Given the description of an element on the screen output the (x, y) to click on. 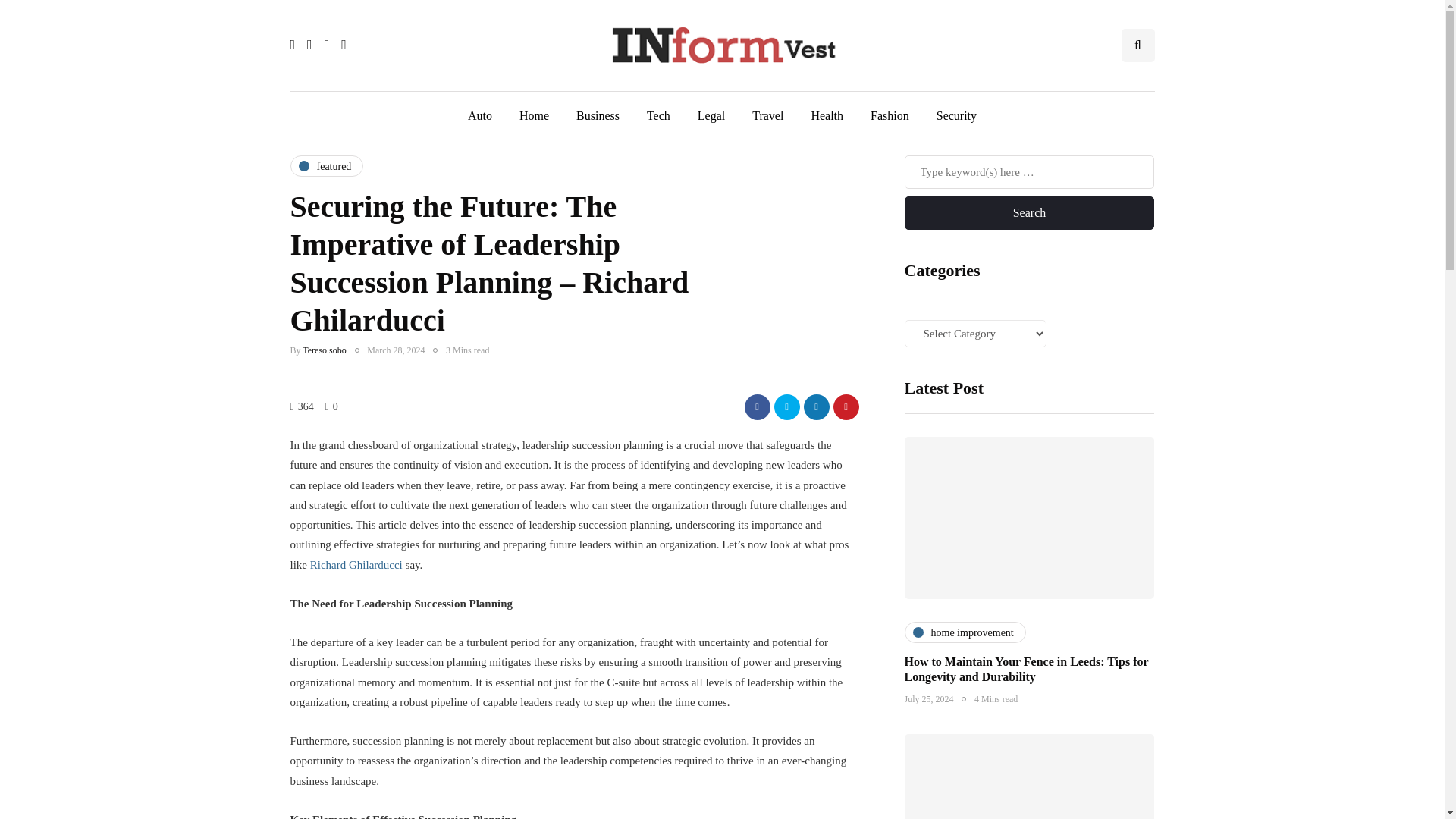
Tech (658, 115)
Travel (767, 115)
Pin this (845, 406)
Tweet this (786, 406)
Share with Facebook (757, 406)
Legal (711, 115)
Tereso sobo (324, 349)
Home (533, 115)
Business (597, 115)
Auto (479, 115)
Share with LinkedIn (816, 406)
featured (325, 165)
home improvement (964, 631)
Richard Ghilarducci (356, 563)
